Given the description of an element on the screen output the (x, y) to click on. 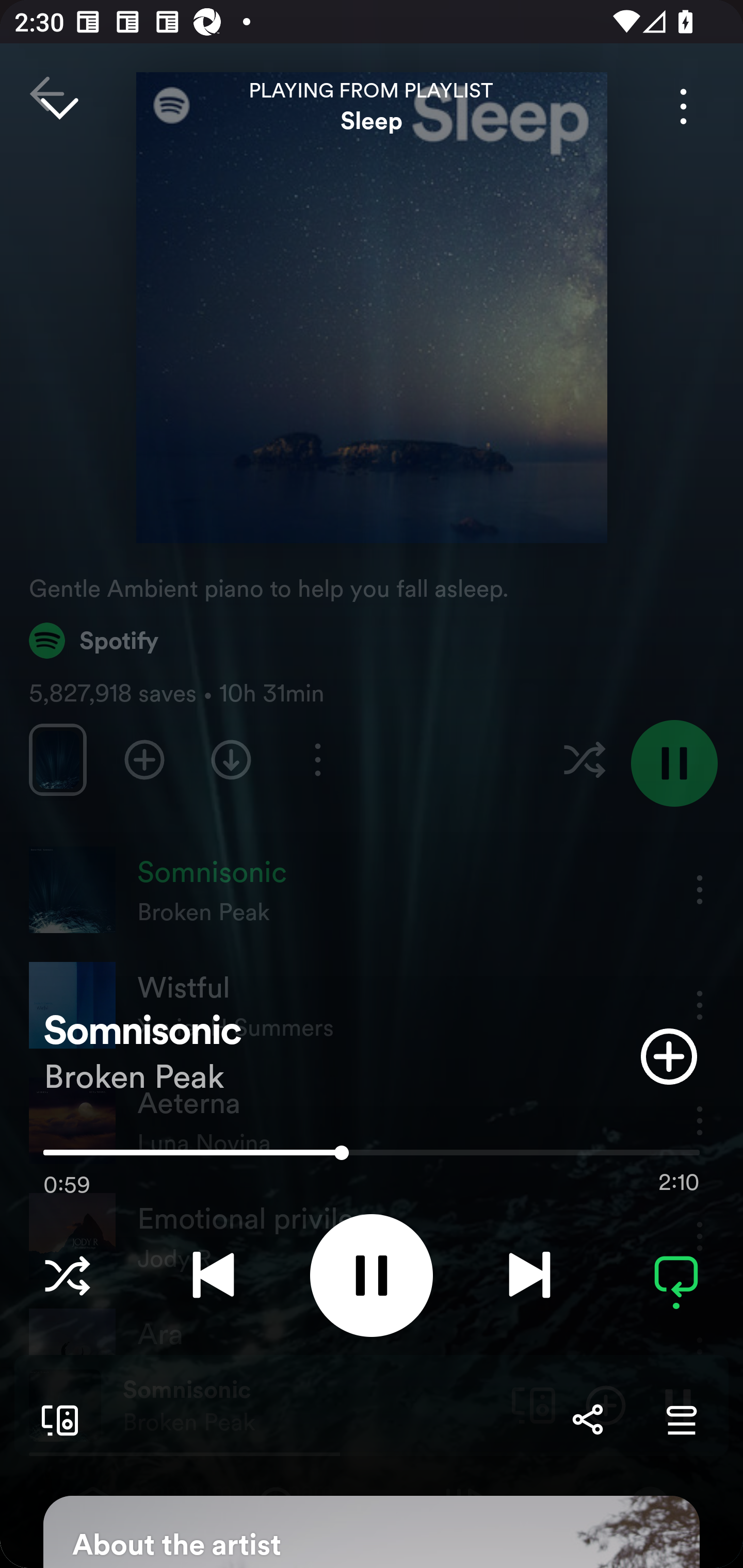
Close (59, 106)
More options for song Somnisonic (683, 106)
PLAYING FROM PLAYLIST Sleep (371, 106)
Add item (669, 1056)
0:58 2:10 58820.0 Use volume keys to adjust (371, 1157)
Pause (371, 1275)
Previous (212, 1275)
Next (529, 1275)
Choose a Listening Mode (66, 1275)
Repeat (676, 1275)
Share (587, 1419)
Go to Queue (681, 1419)
Connect to a device. Opens the devices menu (55, 1419)
About the artist (371, 1531)
